Given the description of an element on the screen output the (x, y) to click on. 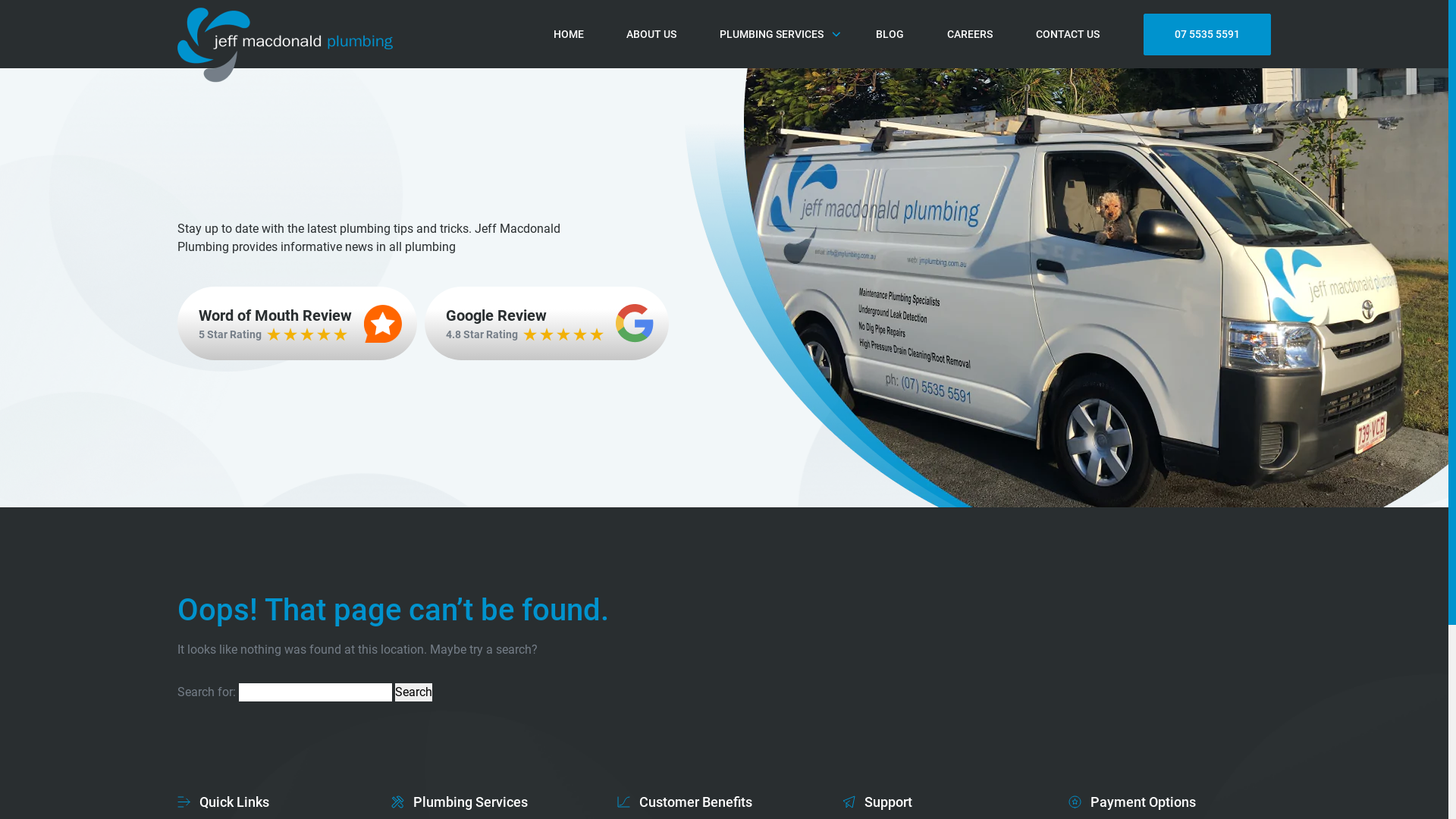
07 5535 5591 Element type: text (1206, 34)
HOME Element type: text (568, 34)
ABOUT US Element type: text (651, 34)
BLOG Element type: text (889, 34)
CONTACT US Element type: text (1067, 34)
PLUMBING SERVICES Element type: text (775, 34)
Search Element type: text (413, 692)
CAREERS Element type: text (969, 34)
